Given the description of an element on the screen output the (x, y) to click on. 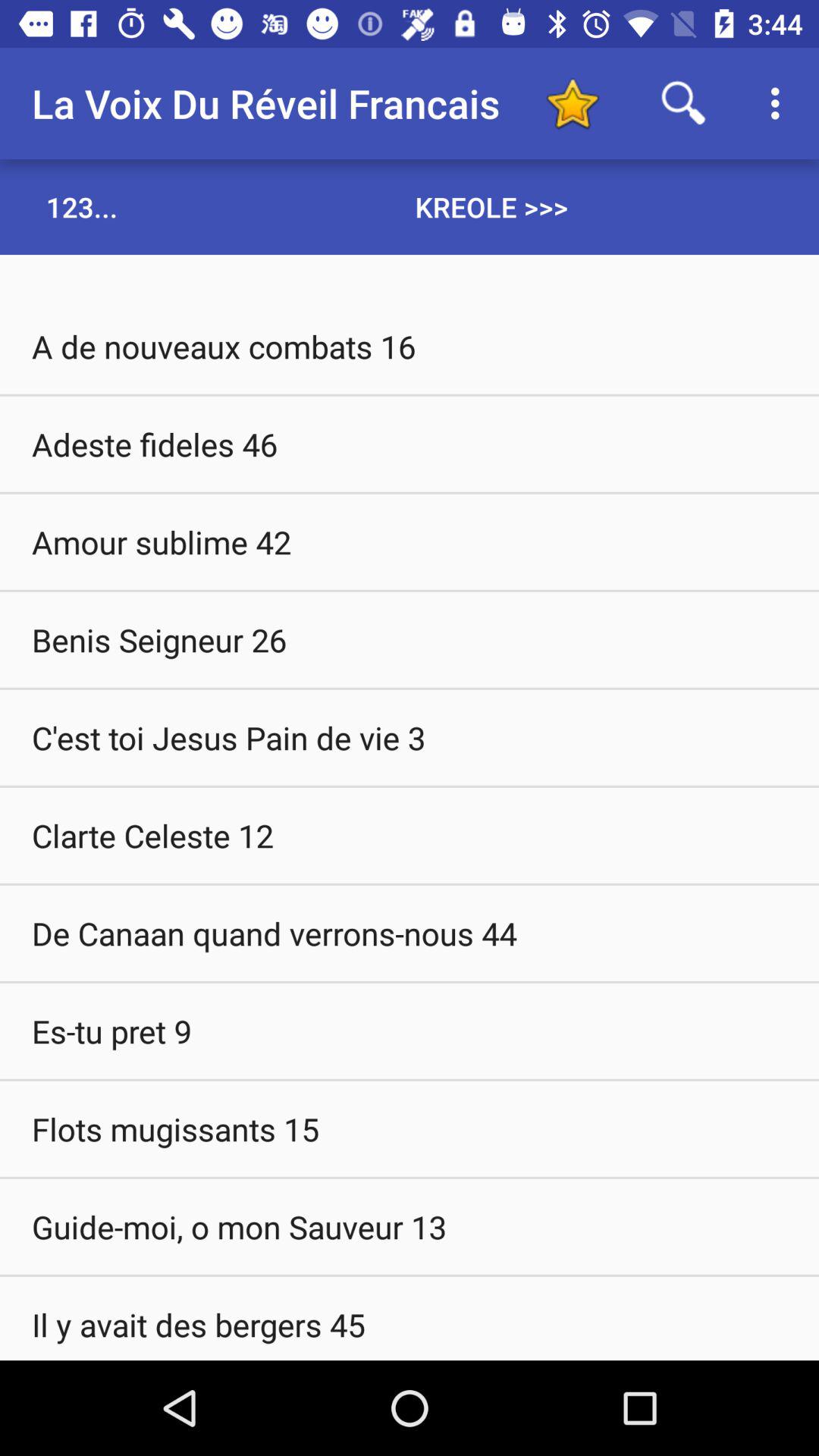
launch item above the benis seigneur 26 (409, 541)
